Given the description of an element on the screen output the (x, y) to click on. 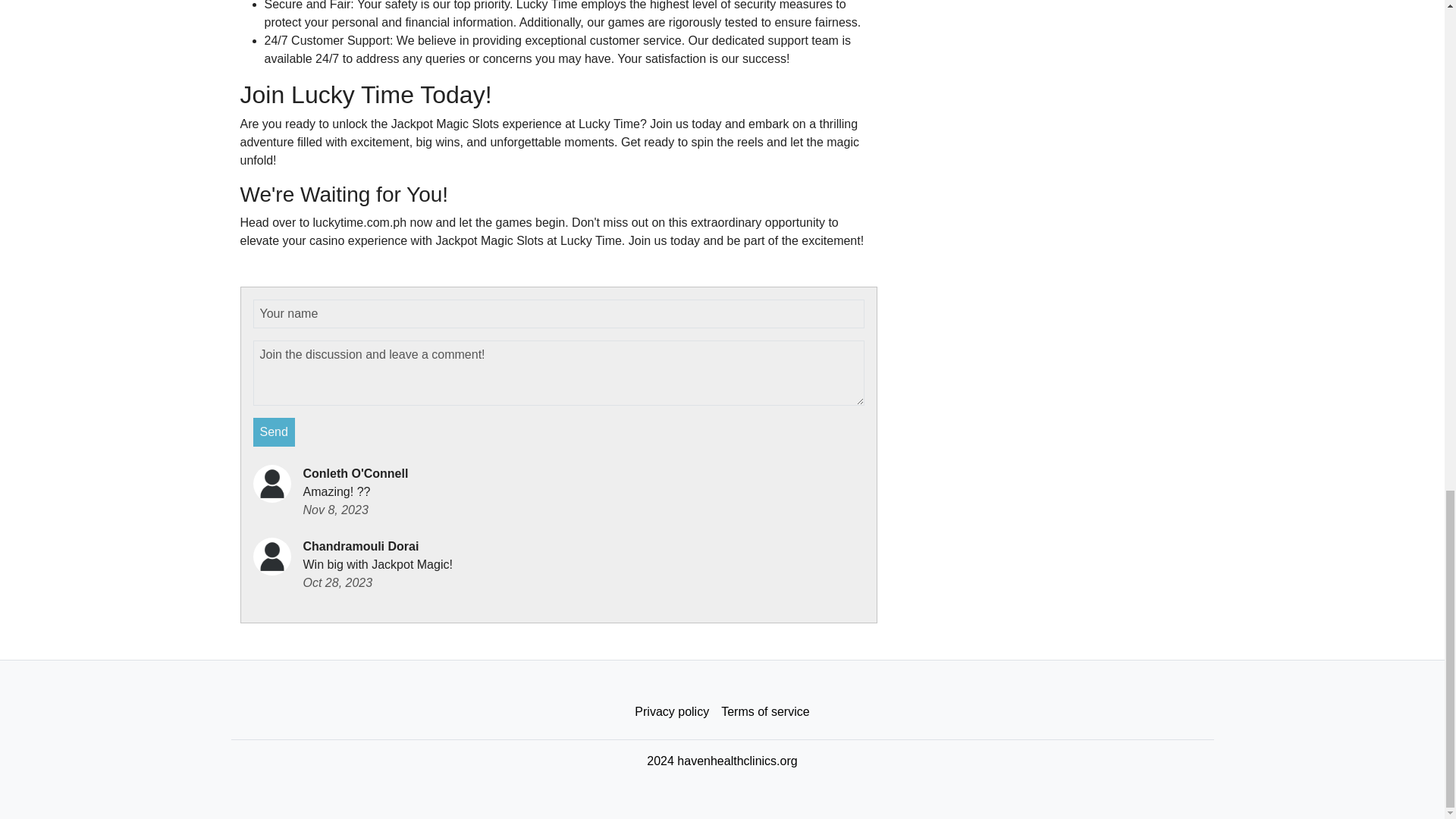
Terms of service (764, 711)
Send (274, 431)
Send (274, 431)
Privacy policy (671, 711)
